Given the description of an element on the screen output the (x, y) to click on. 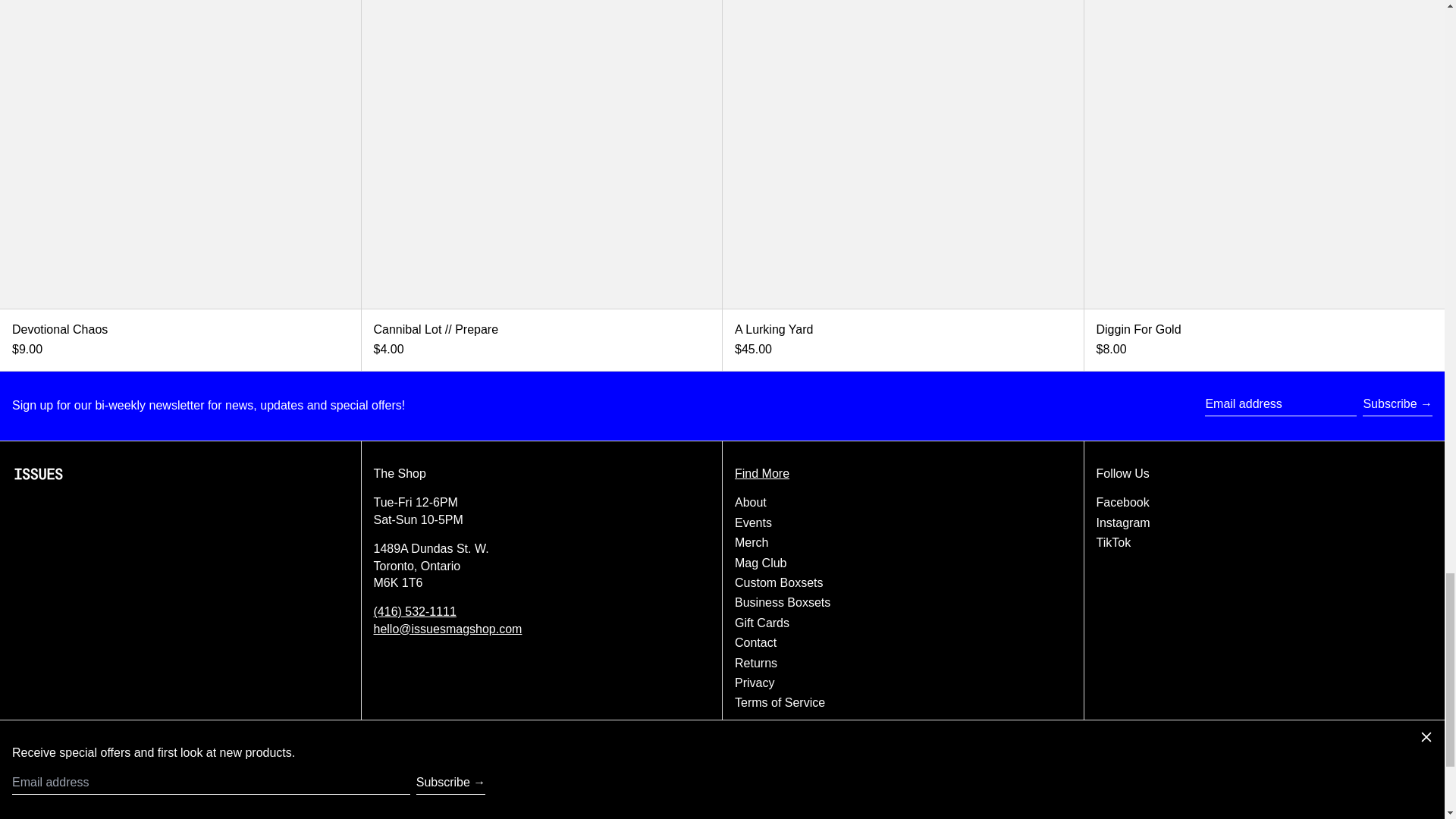
tel:4165321111 (413, 611)
